Given the description of an element on the screen output the (x, y) to click on. 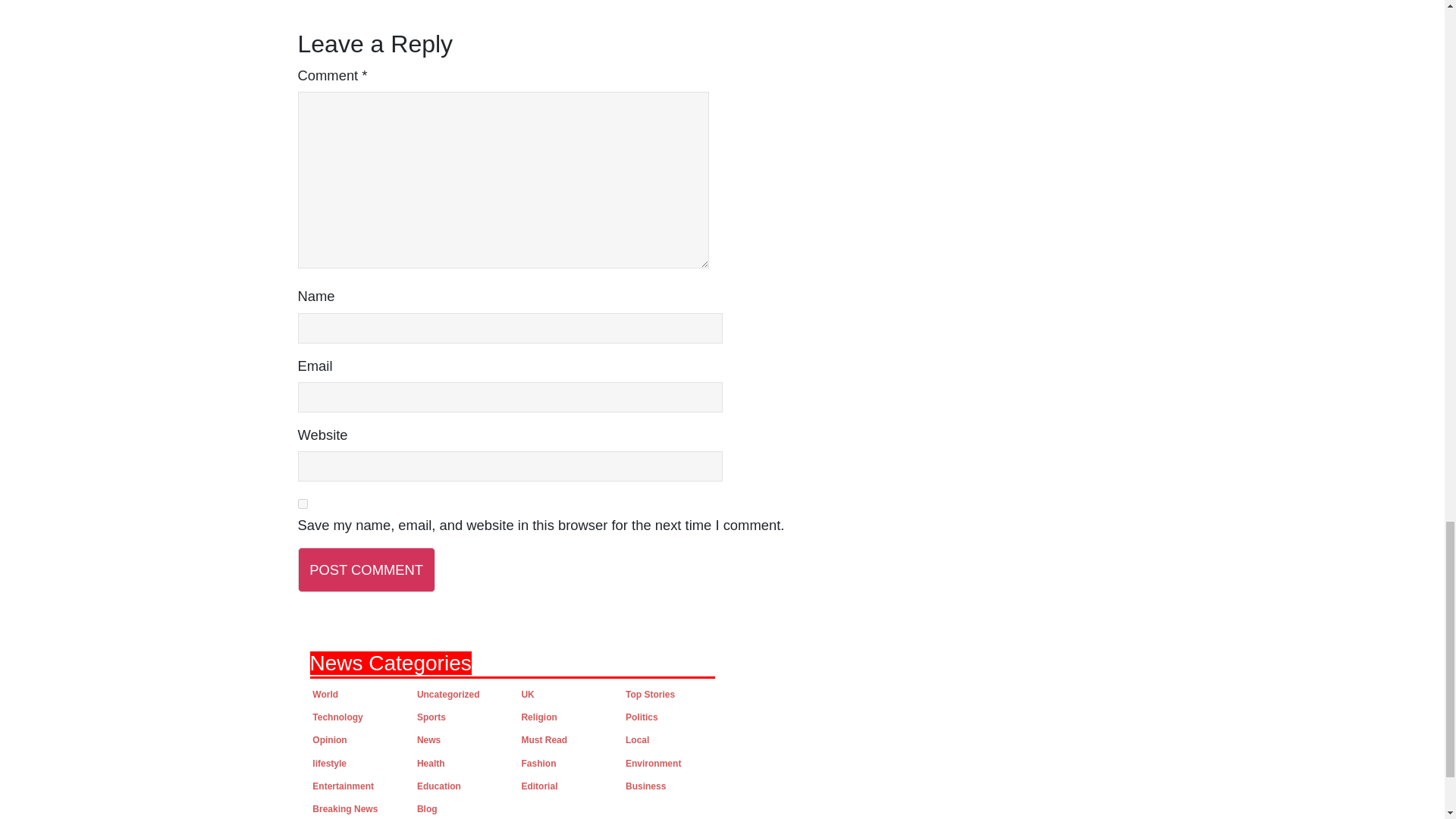
yes (302, 503)
Post Comment (365, 569)
